Given the description of an element on the screen output the (x, y) to click on. 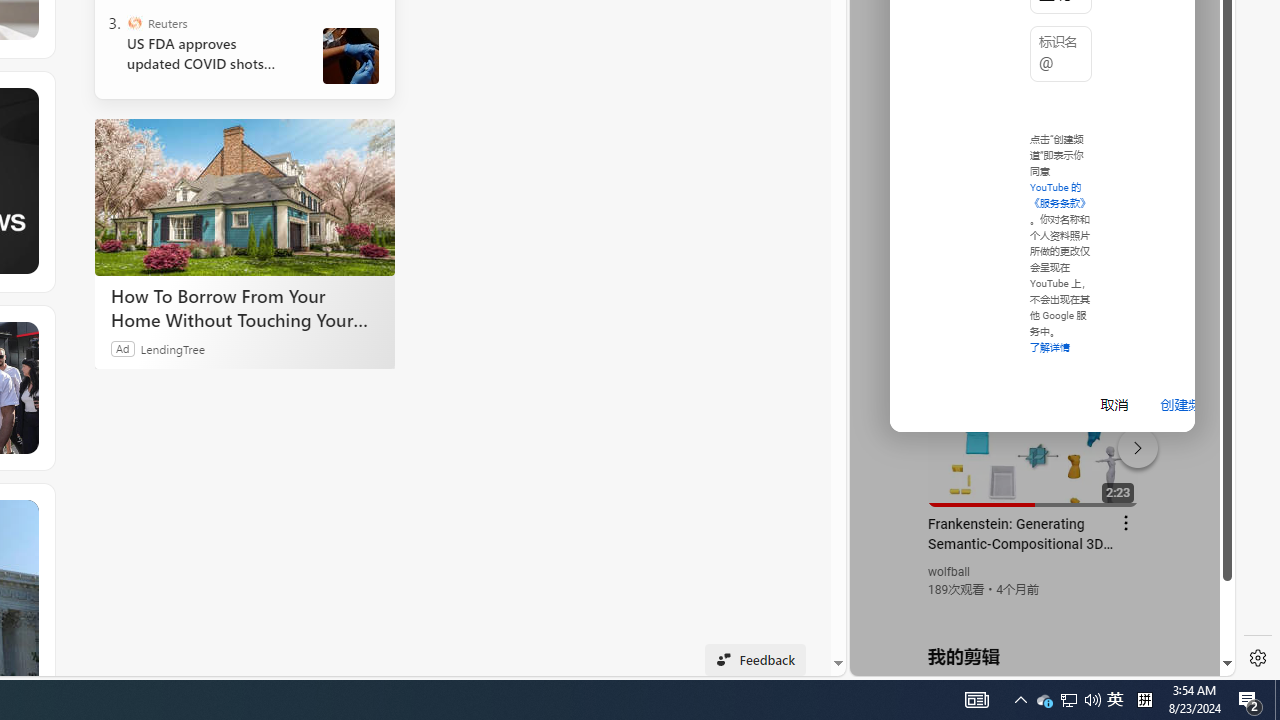
wolfball (949, 572)
Class: dict_pnIcon rms_img (1028, 660)
Reuters (134, 22)
US FDA approves updated COVID shots ahead of fall and winter (208, 53)
